Given the description of an element on the screen output the (x, y) to click on. 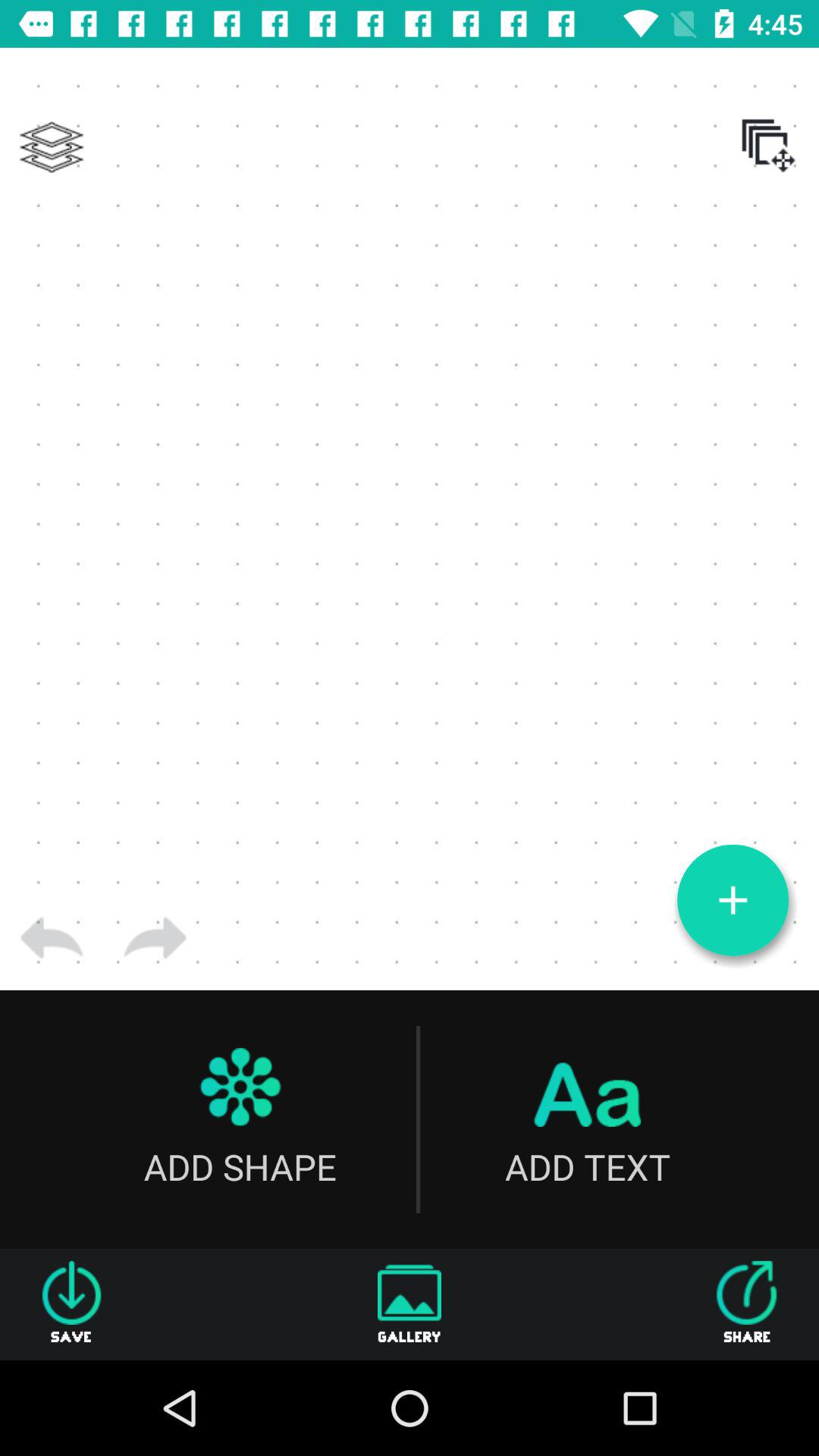
turn on add text item (587, 1119)
